Given the description of an element on the screen output the (x, y) to click on. 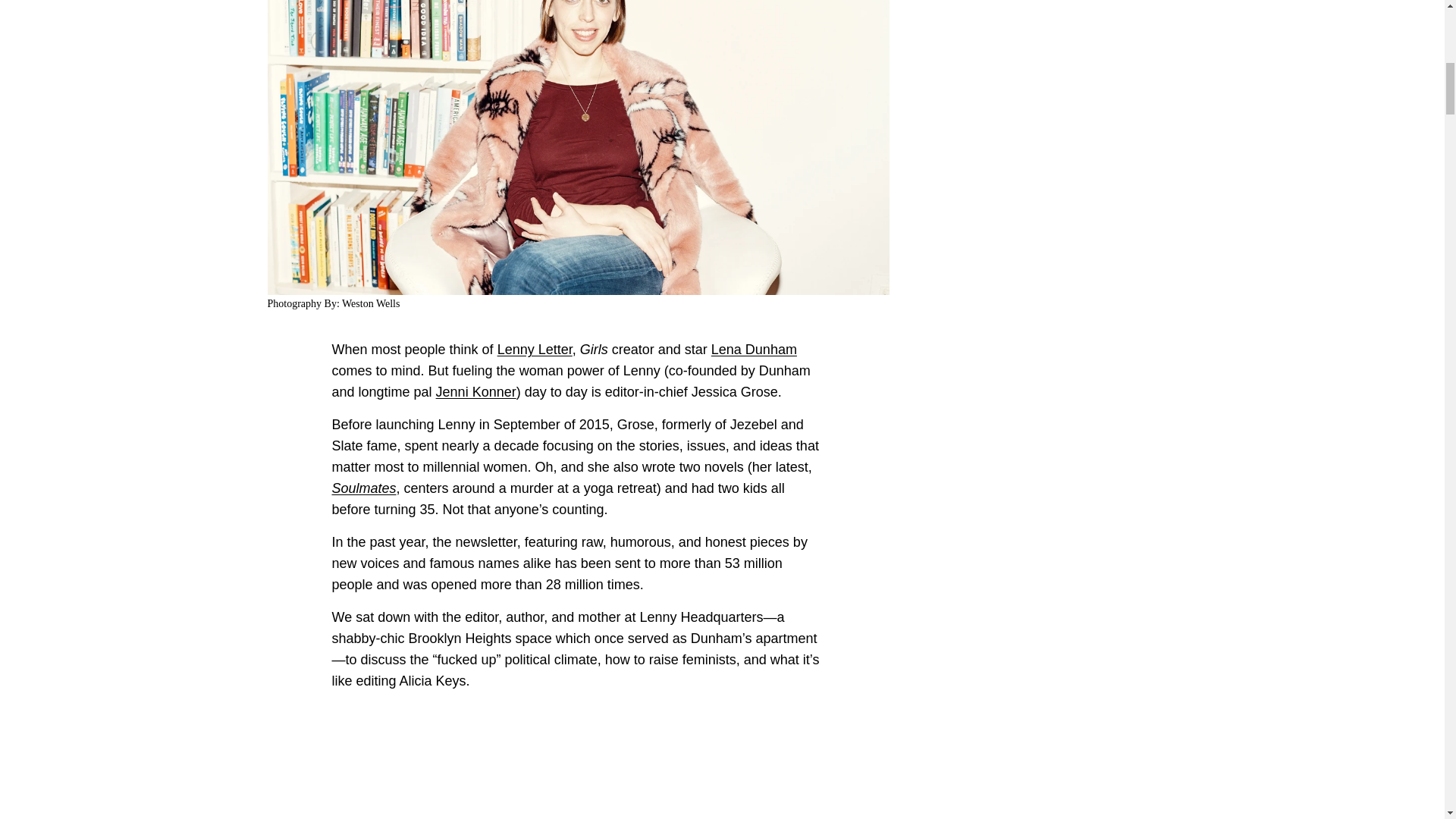
Lena Dunham (753, 349)
Jenni Konner (475, 391)
Lenny Letter (534, 349)
Soulmates (363, 488)
